Given the description of an element on the screen output the (x, y) to click on. 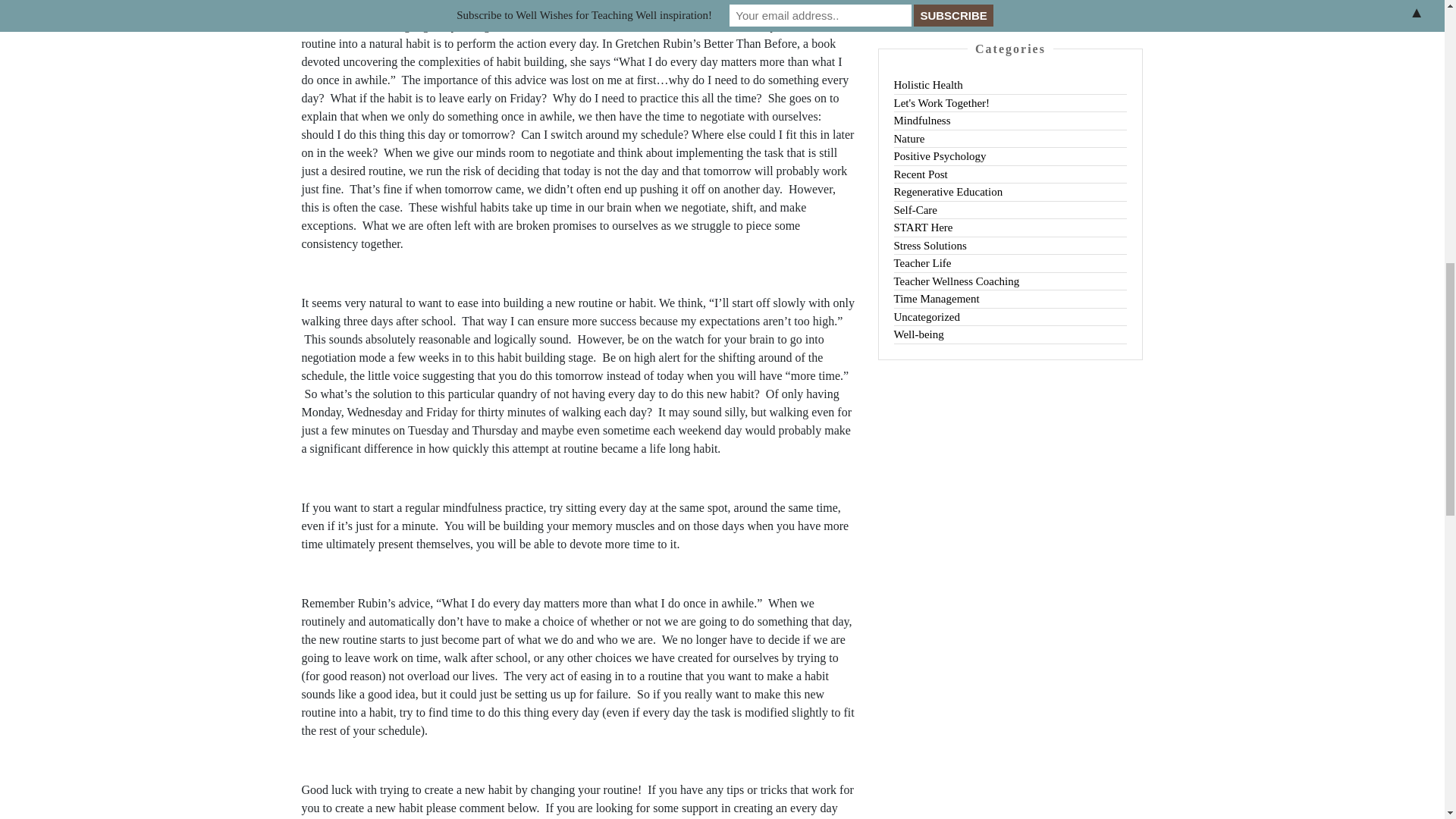
Mindfulness (921, 120)
Let's Work Together! (941, 102)
Holistic Health (927, 84)
Nature (908, 138)
